Given the description of an element on the screen output the (x, y) to click on. 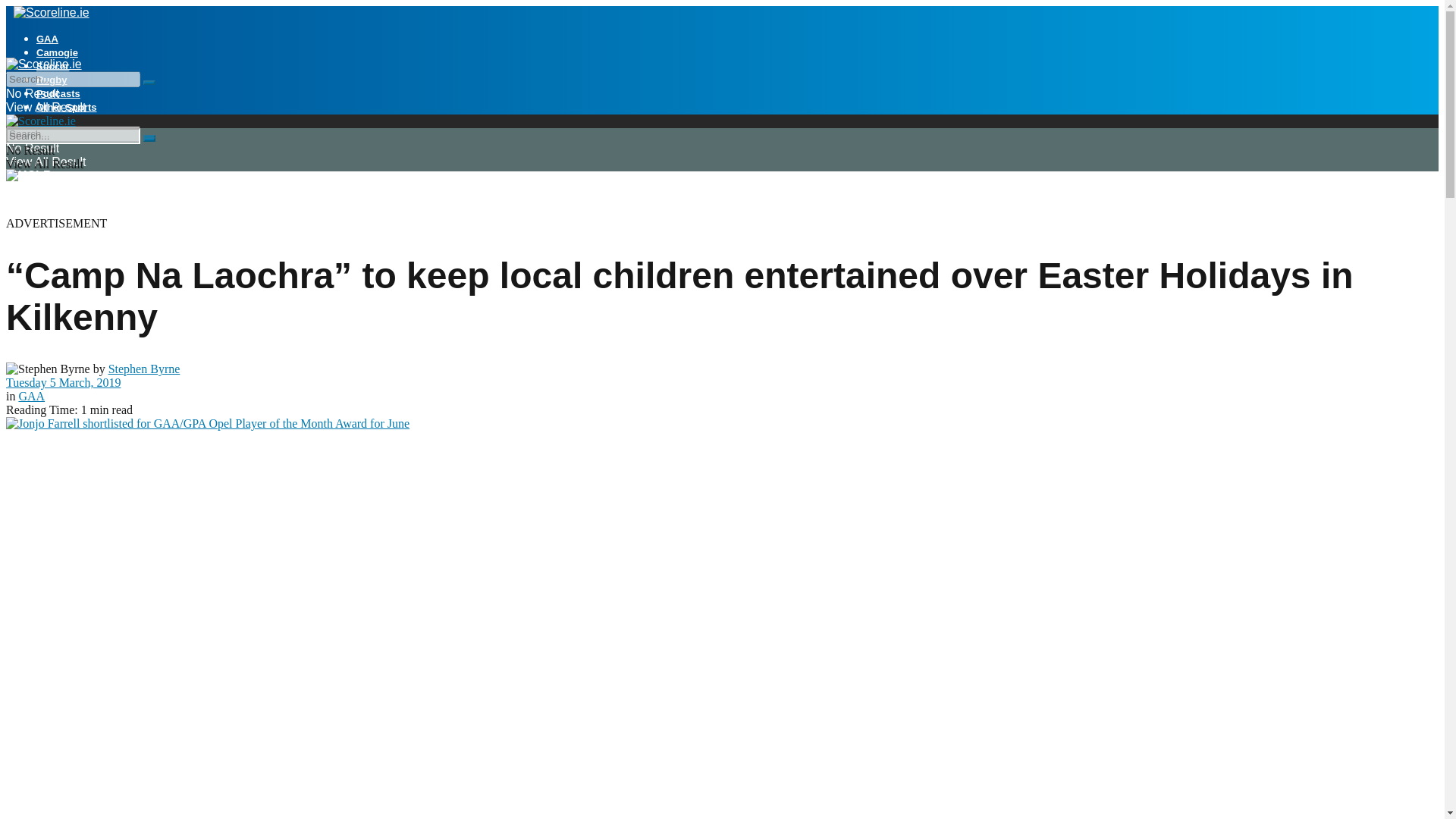
Other Sports (66, 107)
Podcasts (58, 93)
GAA (31, 395)
Soccer (52, 66)
Camogie (57, 52)
Rugby (51, 79)
Tuesday 5 March, 2019 (62, 382)
GAA (47, 39)
Stephen Byrne (143, 368)
